Given the description of an element on the screen output the (x, y) to click on. 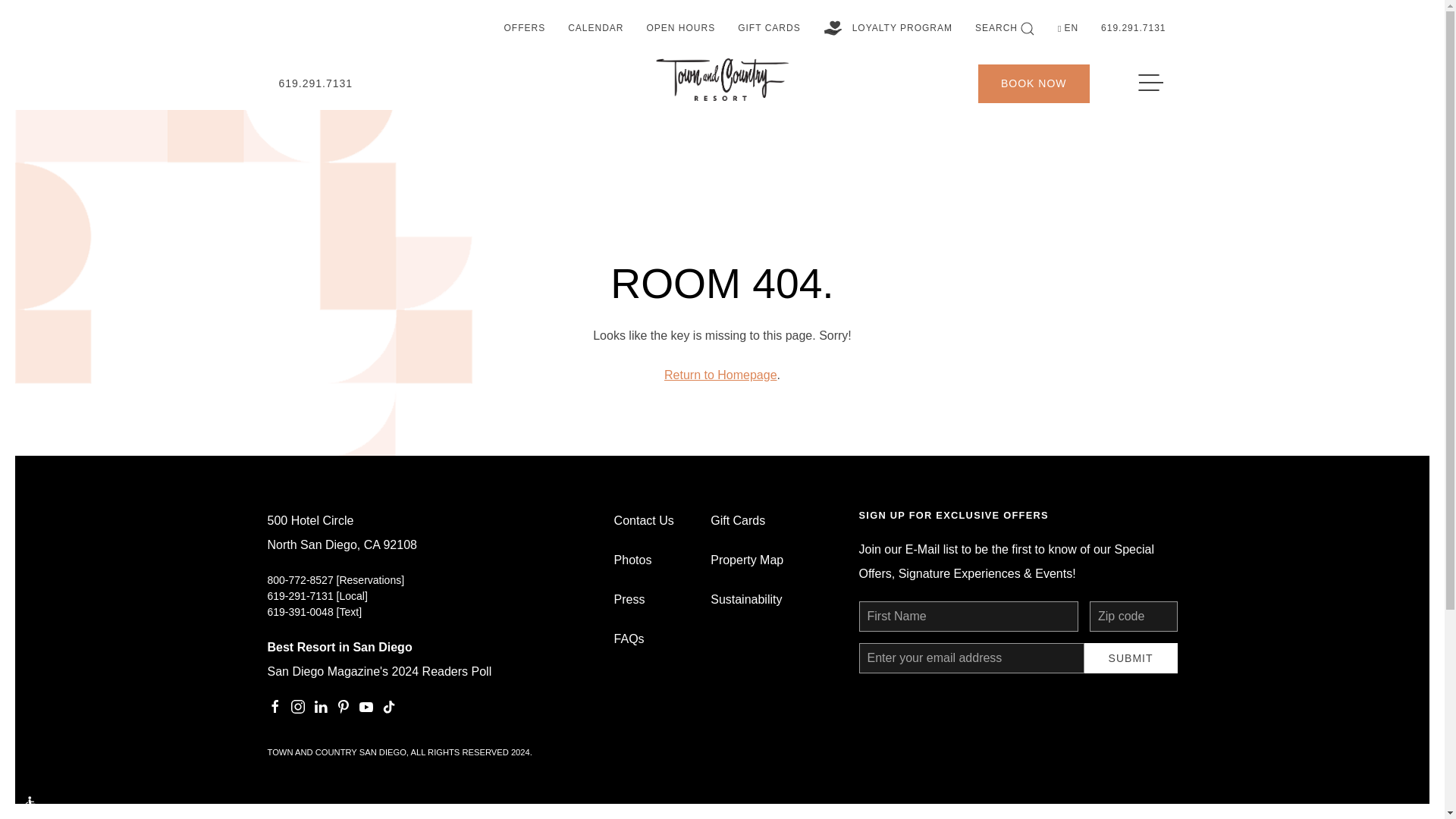
Email Address (971, 657)
619.291.7131 (1132, 28)
OFFERS (524, 28)
CALENDAR (595, 28)
619.291.7131 (315, 82)
LOYALTY PROGRAM (887, 28)
GIFT CARDS (768, 28)
Return to Homepage (720, 374)
BOOK NOW (1033, 83)
EN (1067, 28)
